Given the description of an element on the screen output the (x, y) to click on. 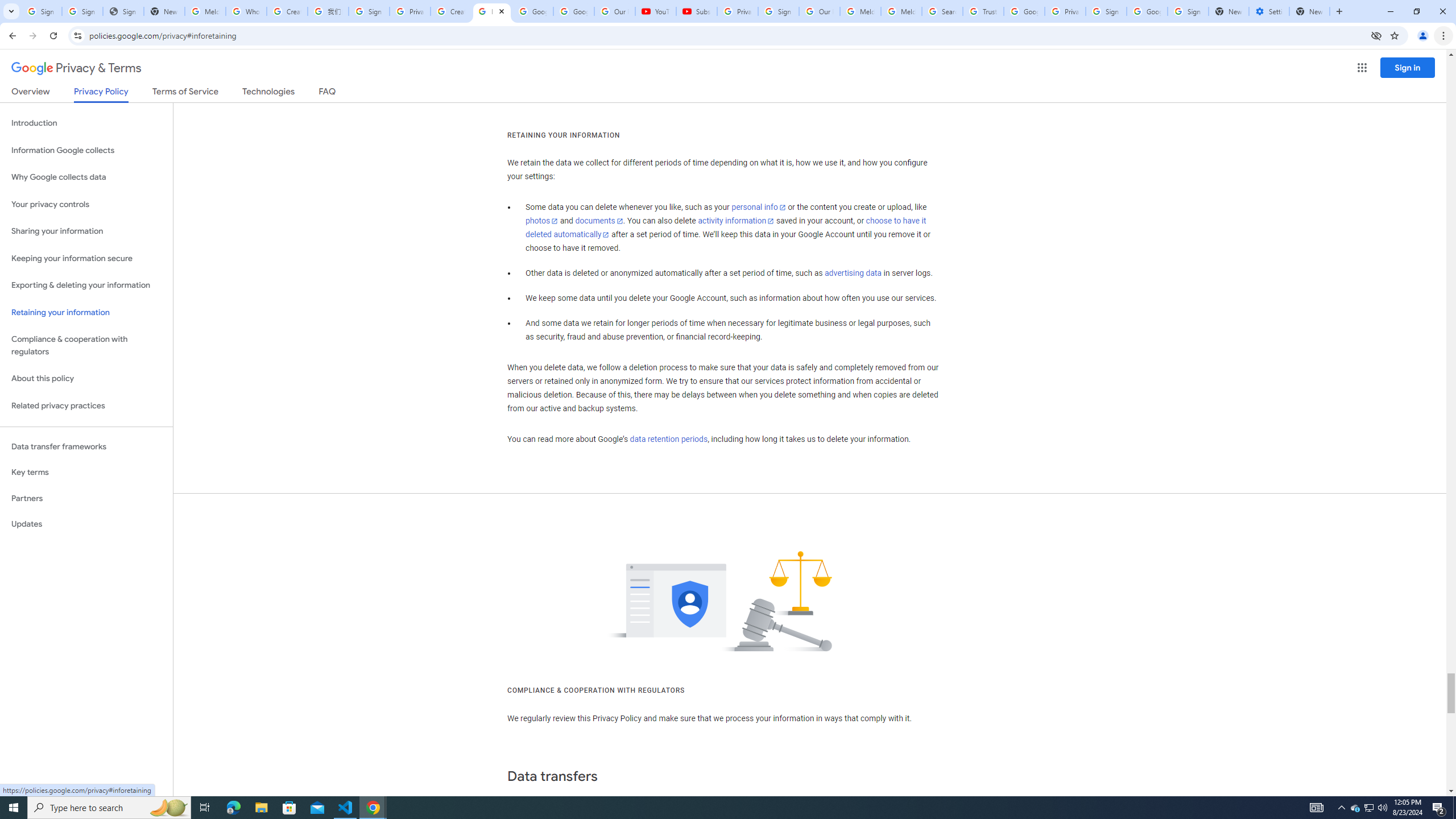
Information Google collects (86, 150)
advertising data (852, 273)
Sign In - USA TODAY (122, 11)
Compliance & cooperation with regulators (86, 345)
Sign in - Google Accounts (81, 11)
Google Account (573, 11)
Related privacy practices (86, 405)
About this policy (86, 379)
